Given the description of an element on the screen output the (x, y) to click on. 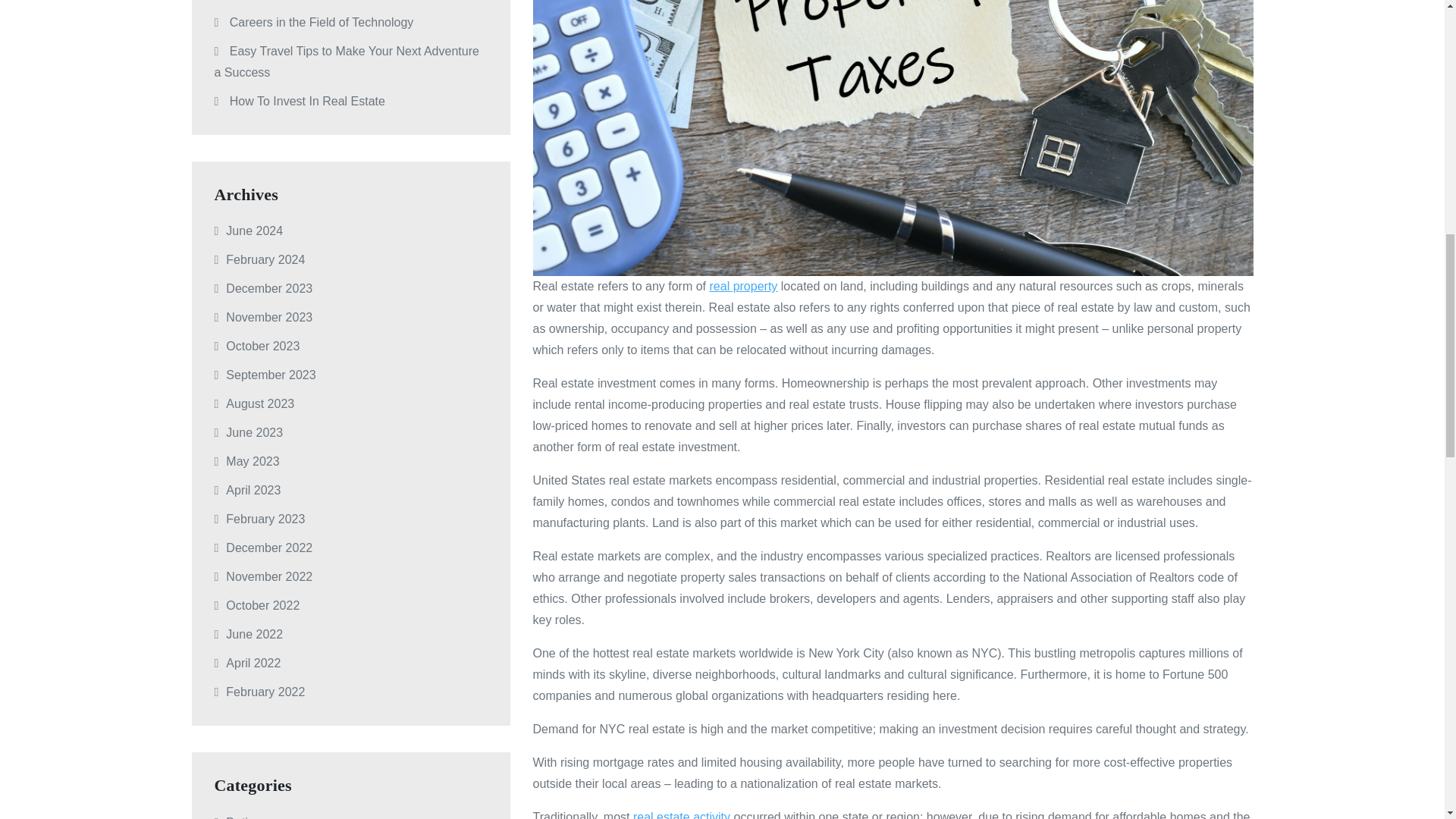
February 2024 (264, 259)
real estate activity (681, 814)
August 2023 (259, 403)
February 2023 (264, 518)
June 2024 (253, 230)
December 2022 (269, 547)
May 2023 (252, 461)
Careers in the Field of Technology (321, 21)
November 2022 (269, 576)
October 2023 (262, 345)
November 2023 (269, 317)
September 2023 (270, 374)
June 2023 (253, 431)
December 2023 (269, 287)
April 2023 (253, 490)
